Given the description of an element on the screen output the (x, y) to click on. 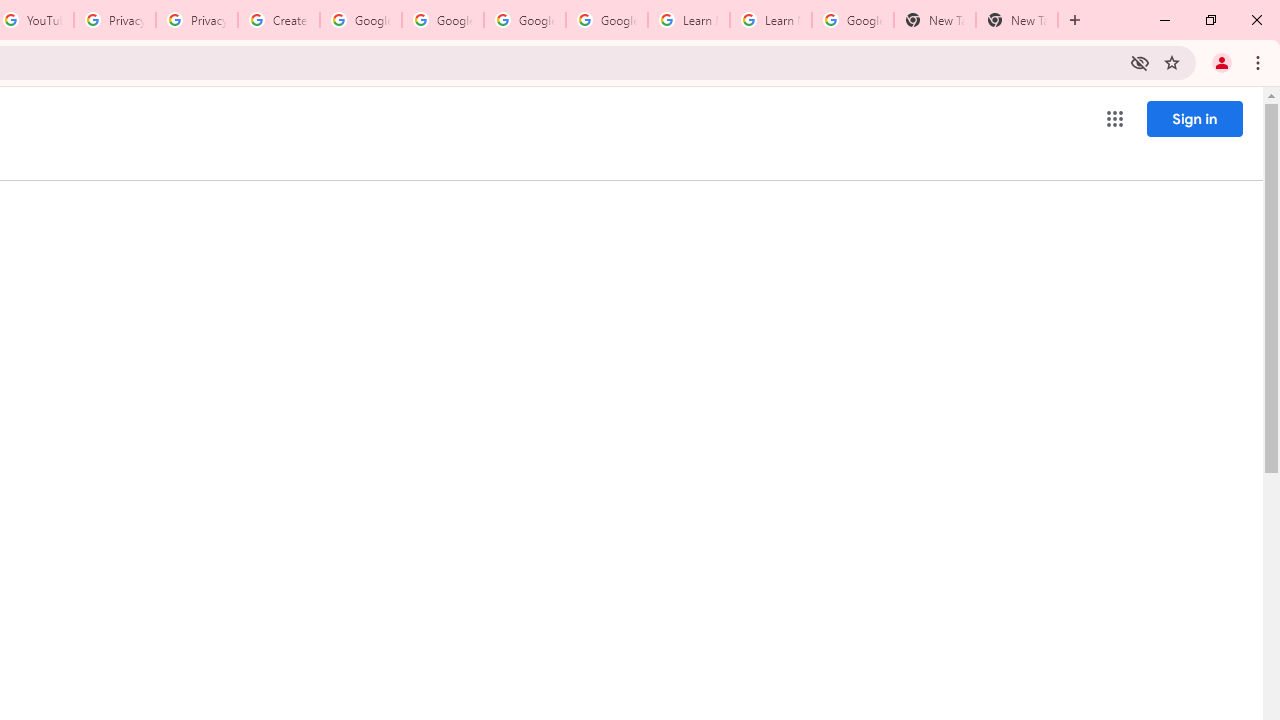
Google Account Help (442, 20)
Create your Google Account (278, 20)
